Given the description of an element on the screen output the (x, y) to click on. 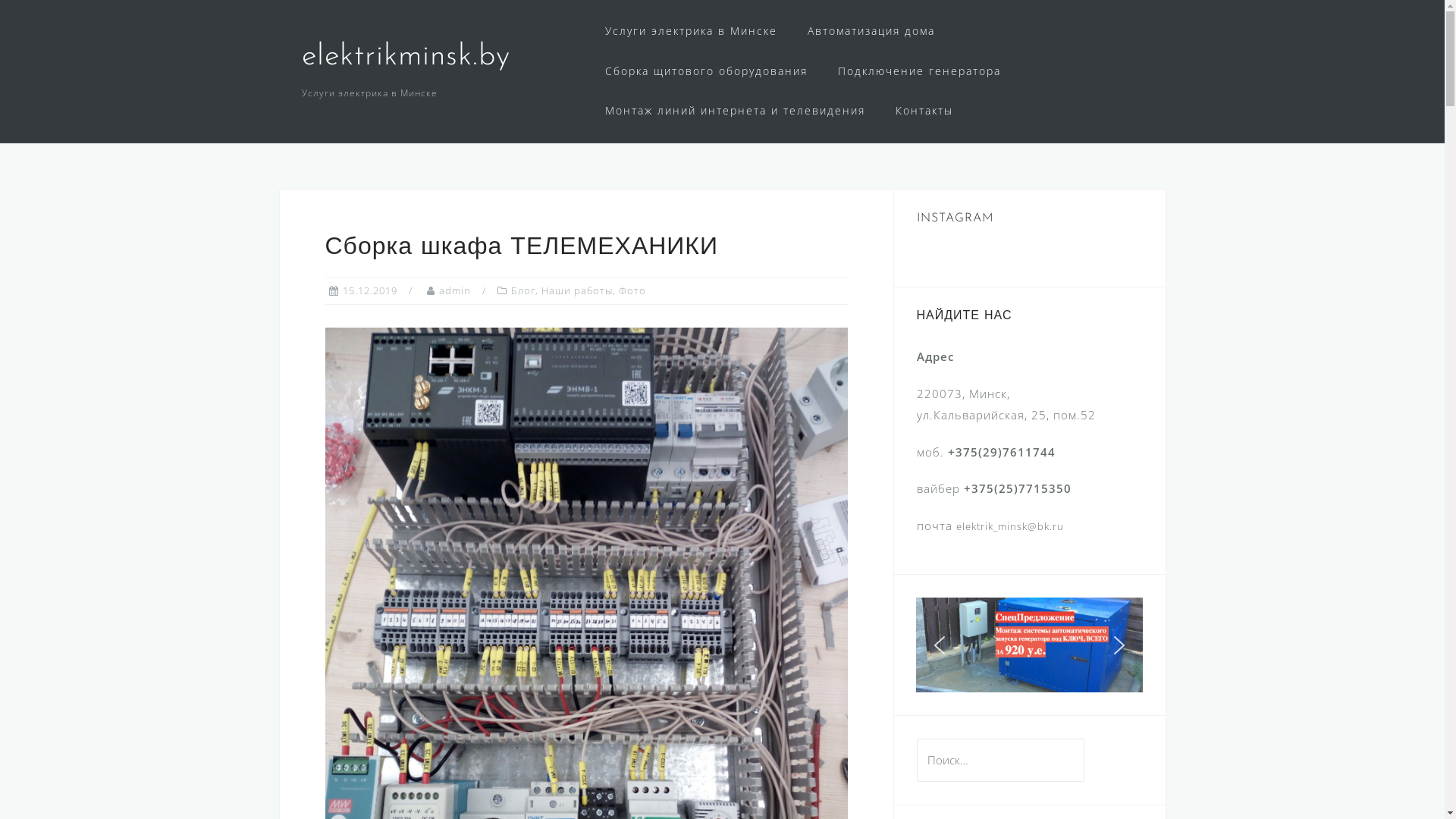
Skip to content Element type: text (0, 0)
elektrik_minsk@bk.ru Element type: text (1009, 525)
elektrikminsk.by Element type: text (405, 56)
15.12.2019 Element type: text (369, 290)
admin Element type: text (454, 290)
